Given the description of an element on the screen output the (x, y) to click on. 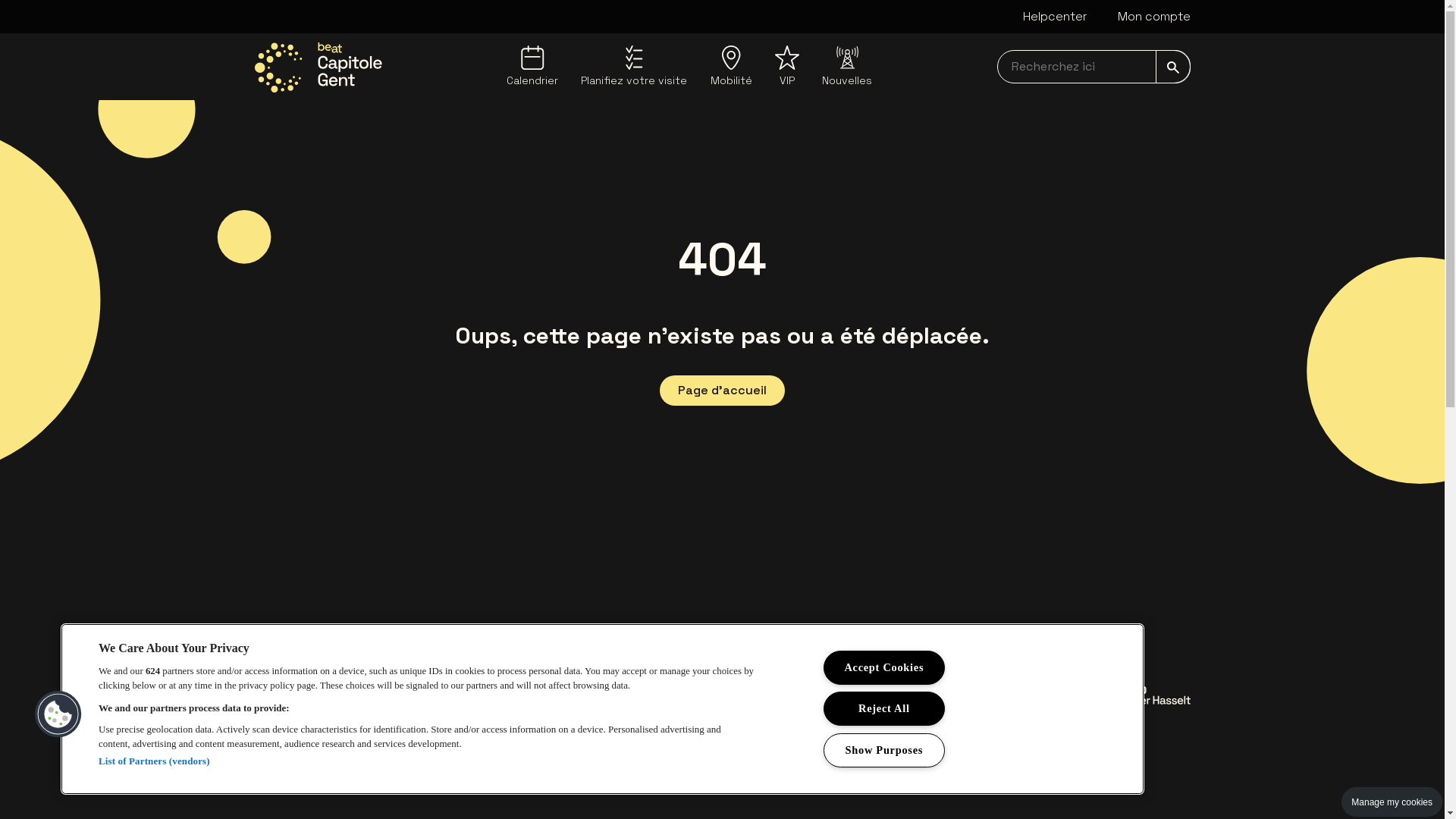
Manage my cookies Element type: text (1391, 801)
Cookies Button Element type: text (58, 714)
List of Partners (vendors) Element type: text (154, 761)
VIP Element type: text (787, 66)
Planifiez votre visite Element type: text (633, 66)
Nouvelles Element type: text (847, 66)
Calendrier Element type: text (532, 66)
Page d'accueil Element type: text (721, 390)
Show Purposes Element type: text (883, 750)
Reject All Element type: text (883, 708)
Accept Cookies Element type: text (883, 667)
Mon compte Element type: text (1153, 16)
Helpcenter Element type: text (1054, 16)
